Given the description of an element on the screen output the (x, y) to click on. 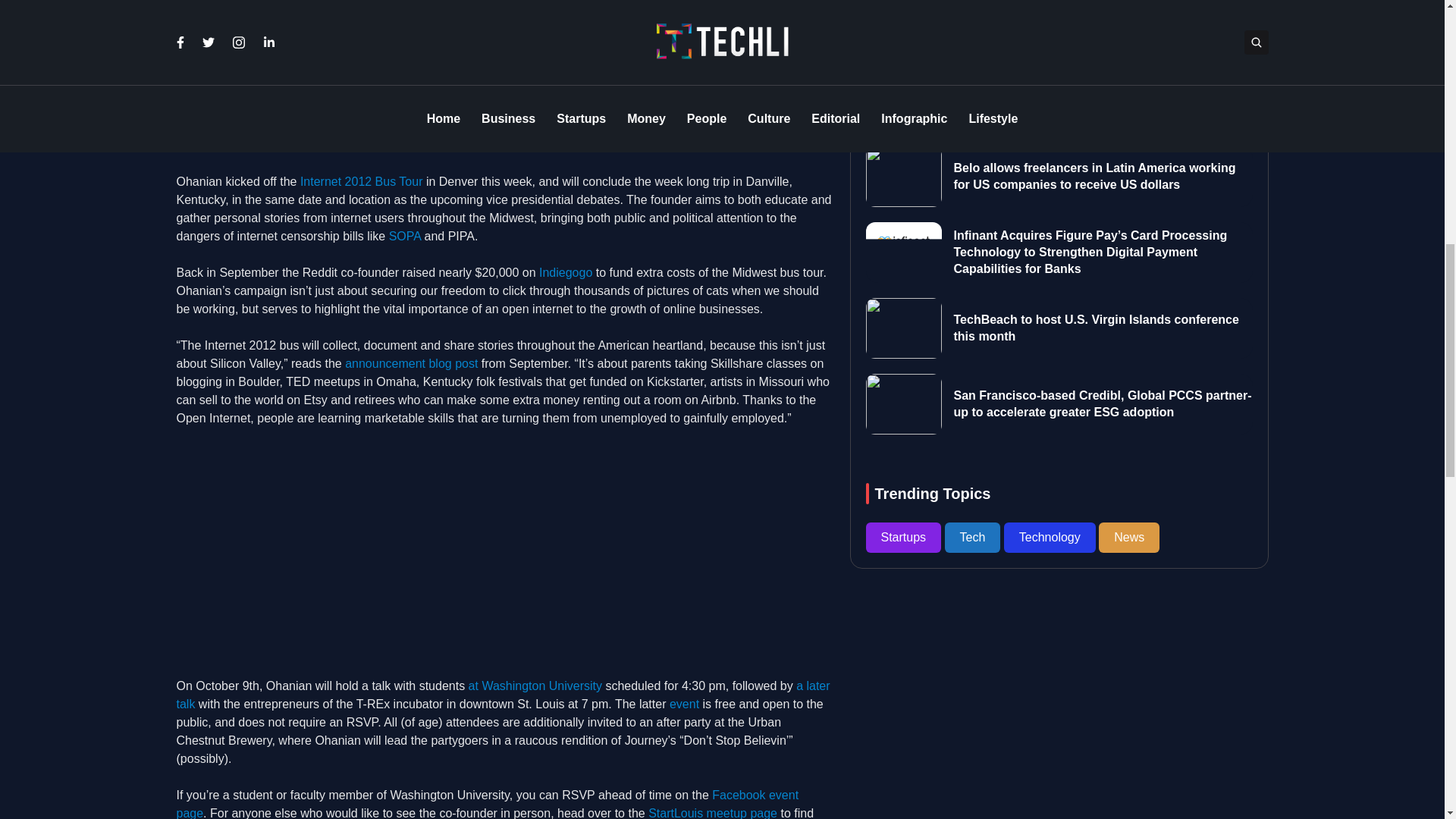
StartLouis meetup page (712, 812)
Indiegogo (565, 272)
at Washington University (535, 685)
event (683, 703)
SOPA (404, 236)
a later talk (502, 694)
Facebook event page (486, 803)
Internet 2012 Bus Tour (361, 181)
announcement blog post (411, 363)
